Given the description of an element on the screen output the (x, y) to click on. 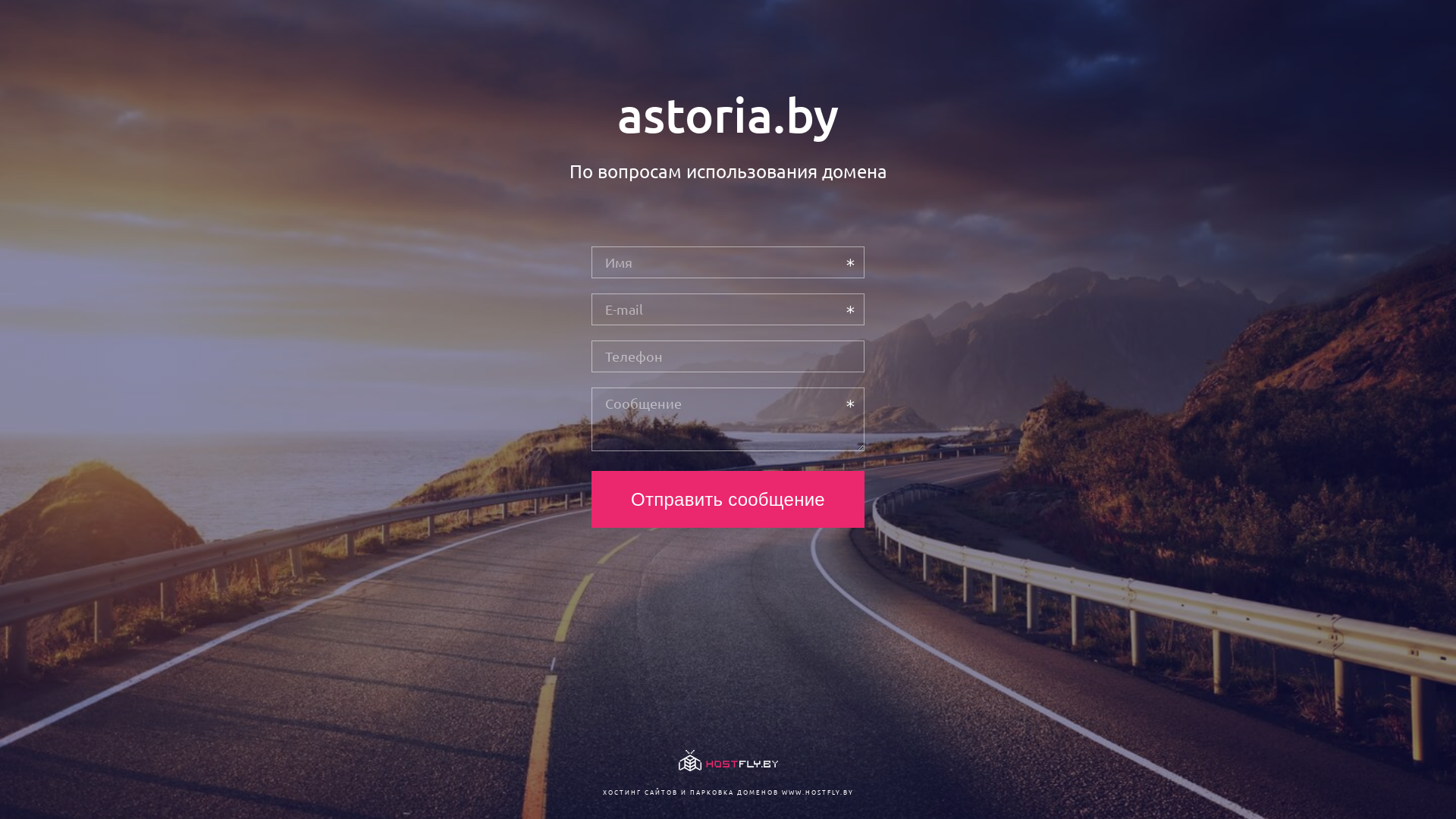
WWW.HOSTFLY.BY Element type: text (817, 791)
